Given the description of an element on the screen output the (x, y) to click on. 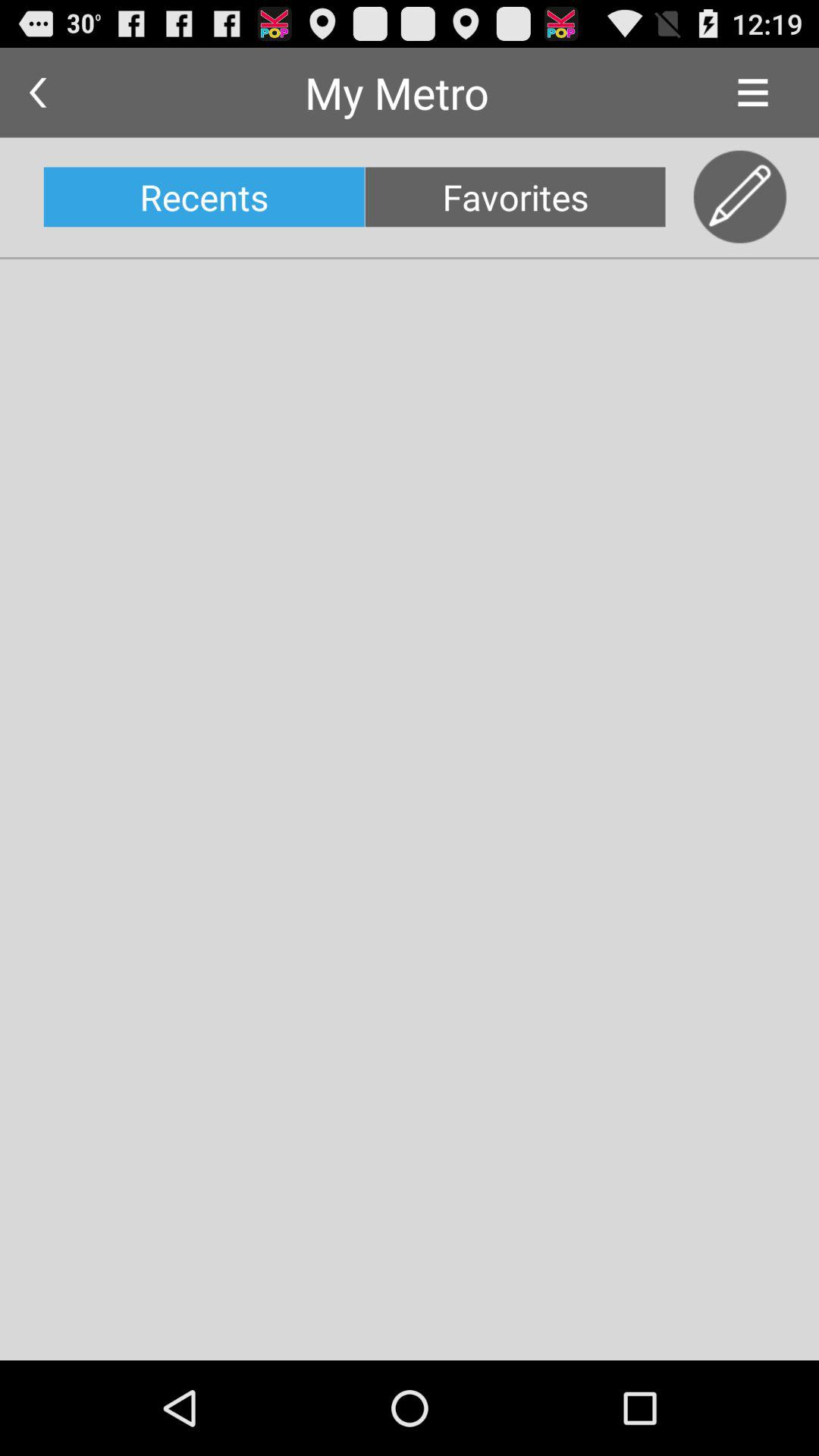
click recents icon (203, 196)
